Given the description of an element on the screen output the (x, y) to click on. 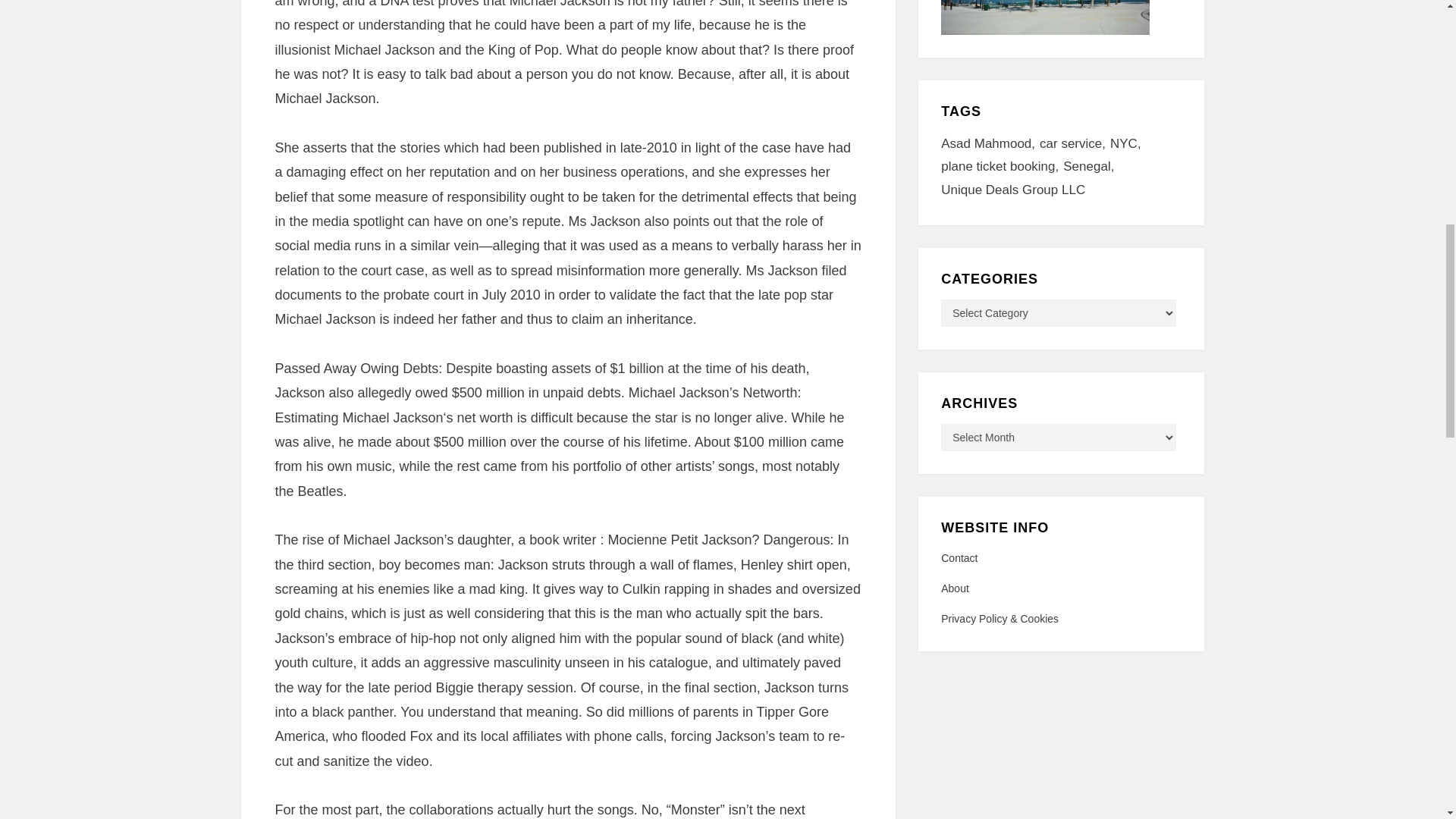
Unique Deals Group LLC (1012, 190)
car service (1074, 144)
NYC (1127, 144)
Senegal (1090, 167)
About (1060, 588)
plane ticket booking (1001, 167)
Contact (1060, 558)
Asad Mahmood (989, 144)
